Given the description of an element on the screen output the (x, y) to click on. 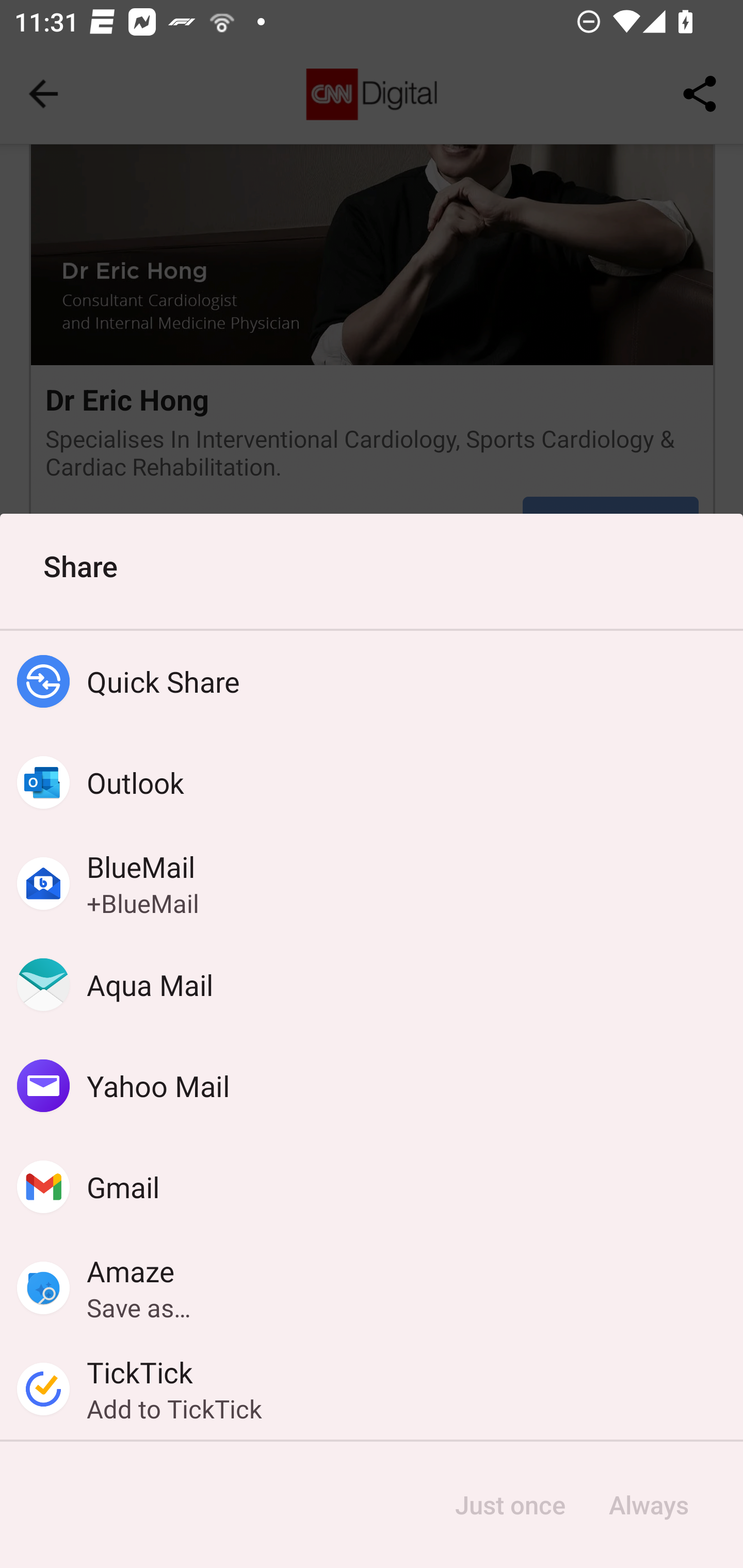
Quick Share (371, 681)
Outlook (371, 782)
BlueMail +BlueMail (371, 883)
Aqua Mail (371, 984)
Yahoo Mail (371, 1085)
Gmail (371, 1186)
Amaze Save as… (371, 1288)
TickTick Add to TickTick (371, 1389)
Just once (509, 1504)
Always (648, 1504)
